Given the description of an element on the screen output the (x, y) to click on. 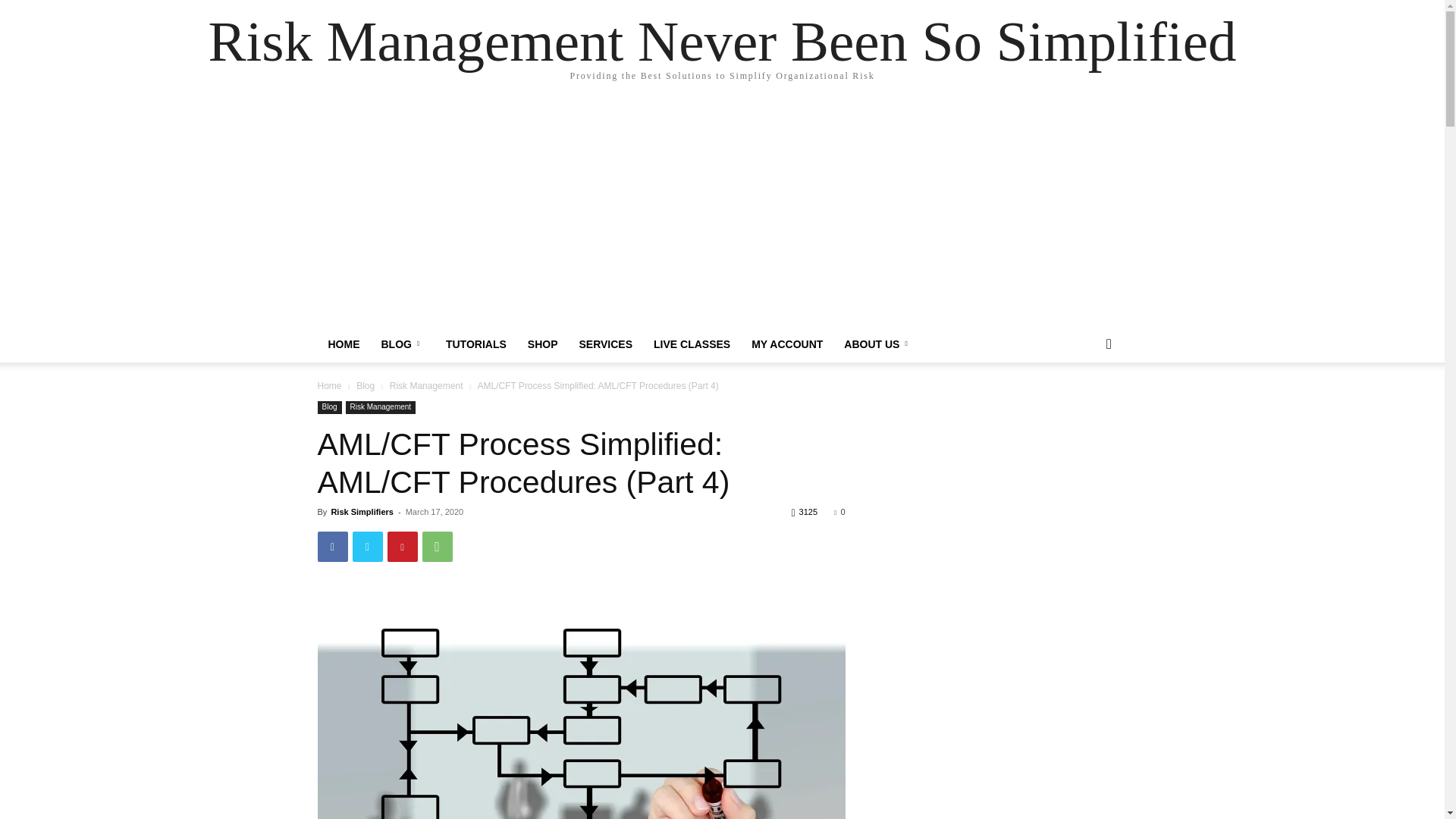
LIVE CLASSES (692, 343)
Risk Management Never Been So Simplified (722, 41)
SHOP (542, 343)
SERVICES (606, 343)
View all posts in Blog (365, 385)
TUTORIALS (475, 343)
BLOG (401, 343)
Facebook (332, 546)
View all posts in Risk Management (426, 385)
HOME (343, 343)
MY ACCOUNT (786, 343)
ABOUT US (877, 343)
